Given the description of an element on the screen output the (x, y) to click on. 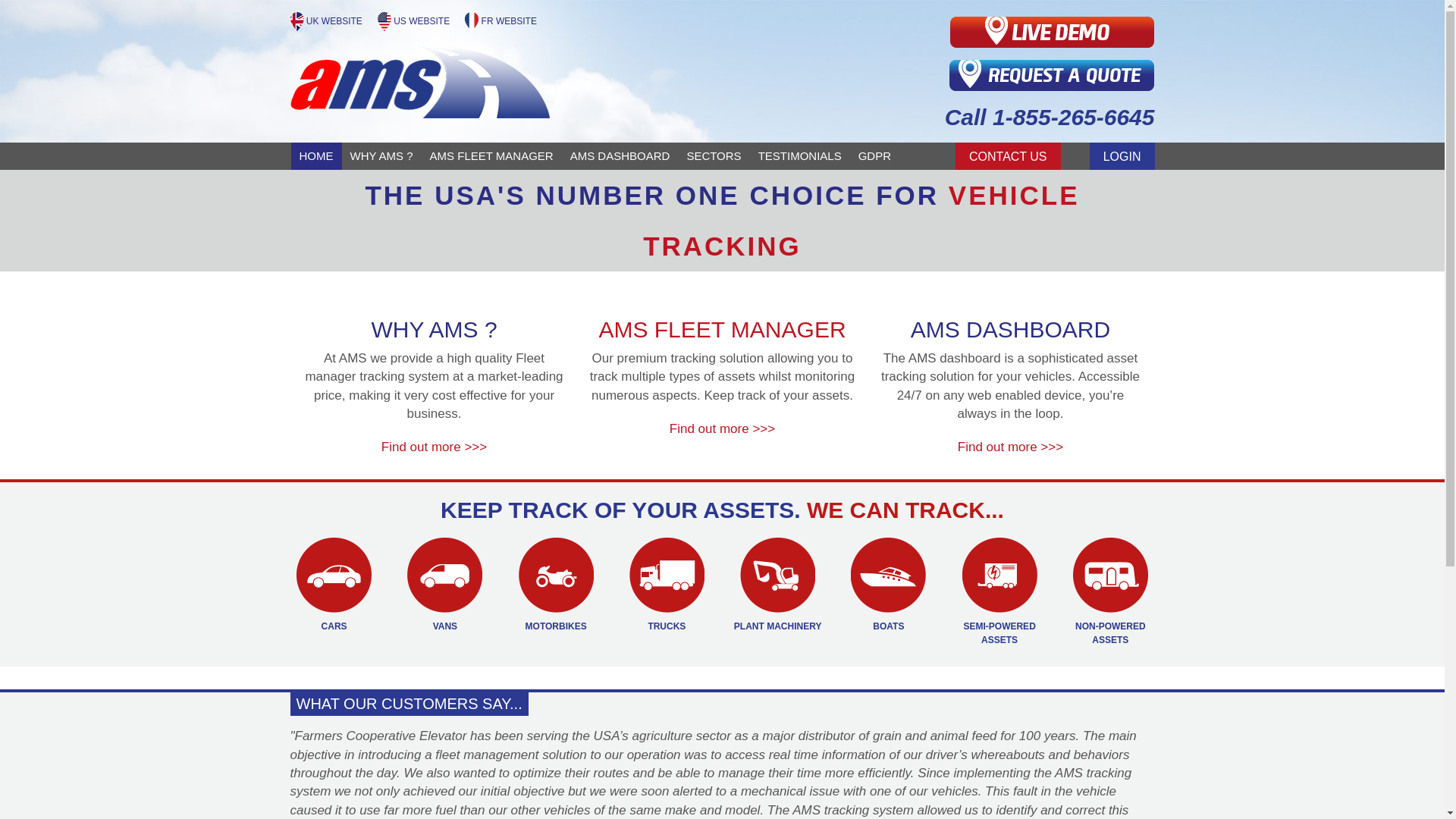
AMS Dashboard (620, 155)
TESTIMONIALS (799, 155)
UK WEBSITE (327, 20)
Testimonials (799, 155)
CONTACT US (1008, 155)
Home (316, 155)
Asset Monitoring Solutions (327, 20)
FR WEBSITE (500, 20)
AMS Fleet Manager (492, 155)
Call 1-855-265-6645 (981, 117)
Sectors (713, 155)
GDPR (874, 155)
HOME (316, 155)
SECTORS (713, 155)
AMS FLEET MANAGER (492, 155)
